Given the description of an element on the screen output the (x, y) to click on. 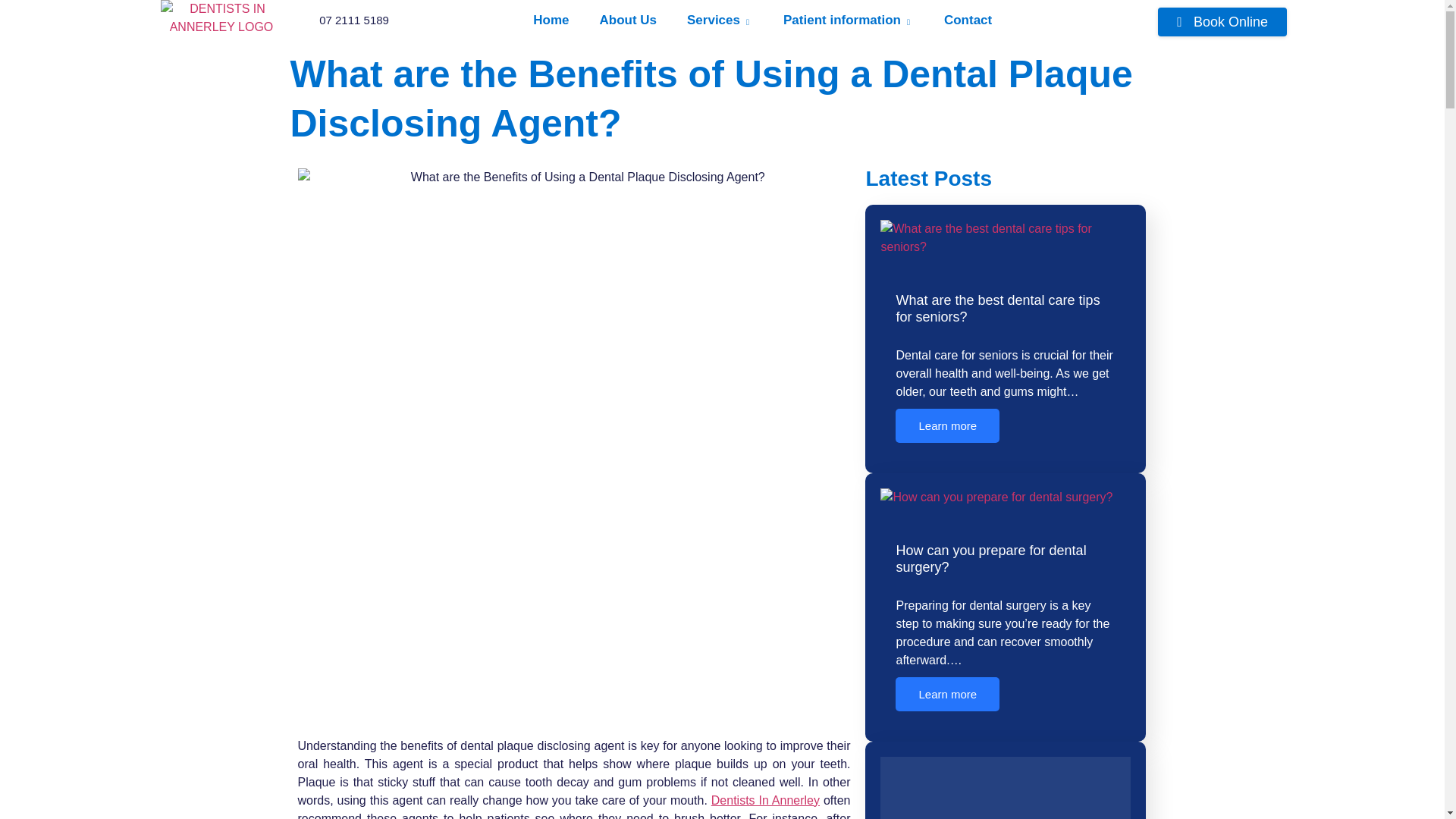
Services (735, 20)
Home (565, 20)
07 2111 5189 (354, 19)
Patient information (863, 20)
About Us (642, 20)
Contact (982, 20)
